Given the description of an element on the screen output the (x, y) to click on. 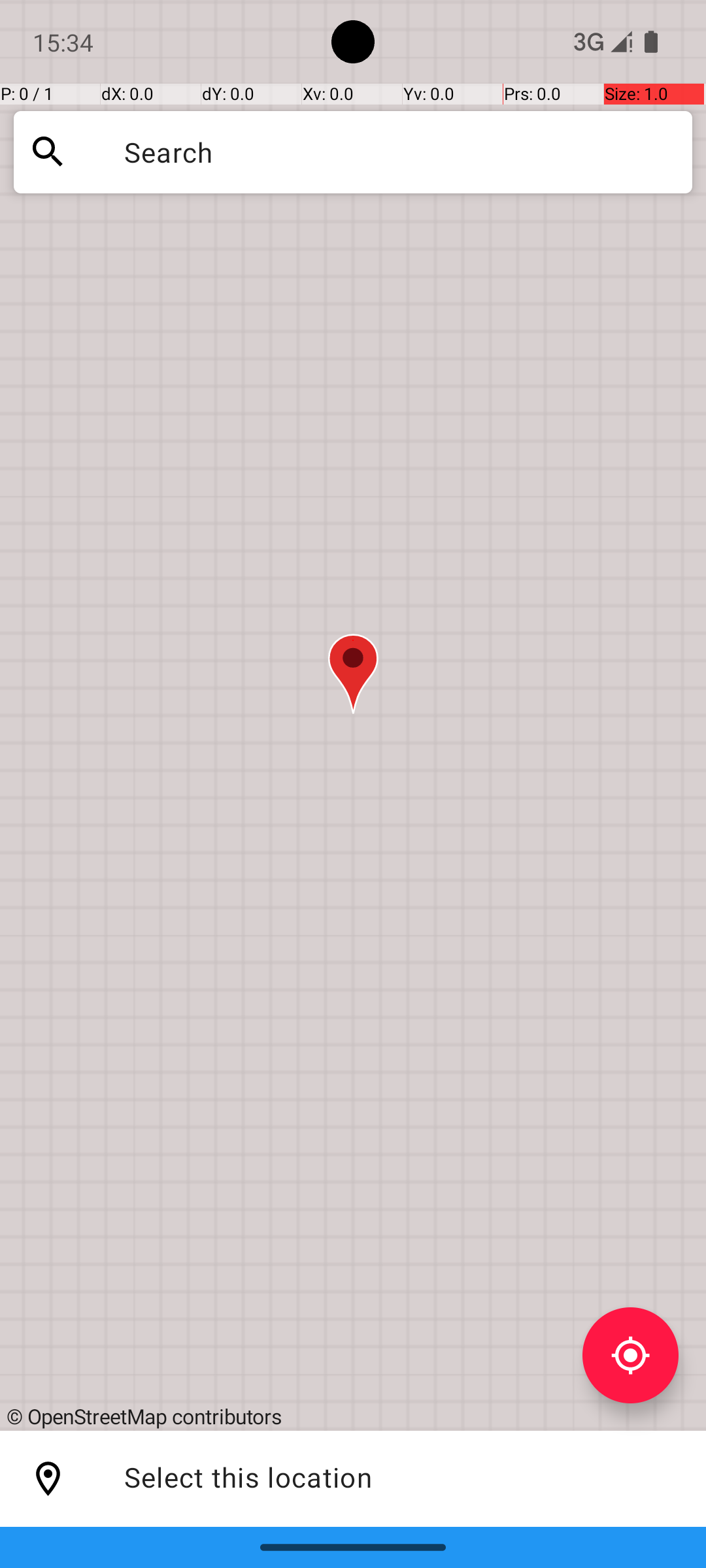
Select this location Element type: android.widget.ImageView (47, 1478)
